Given the description of an element on the screen output the (x, y) to click on. 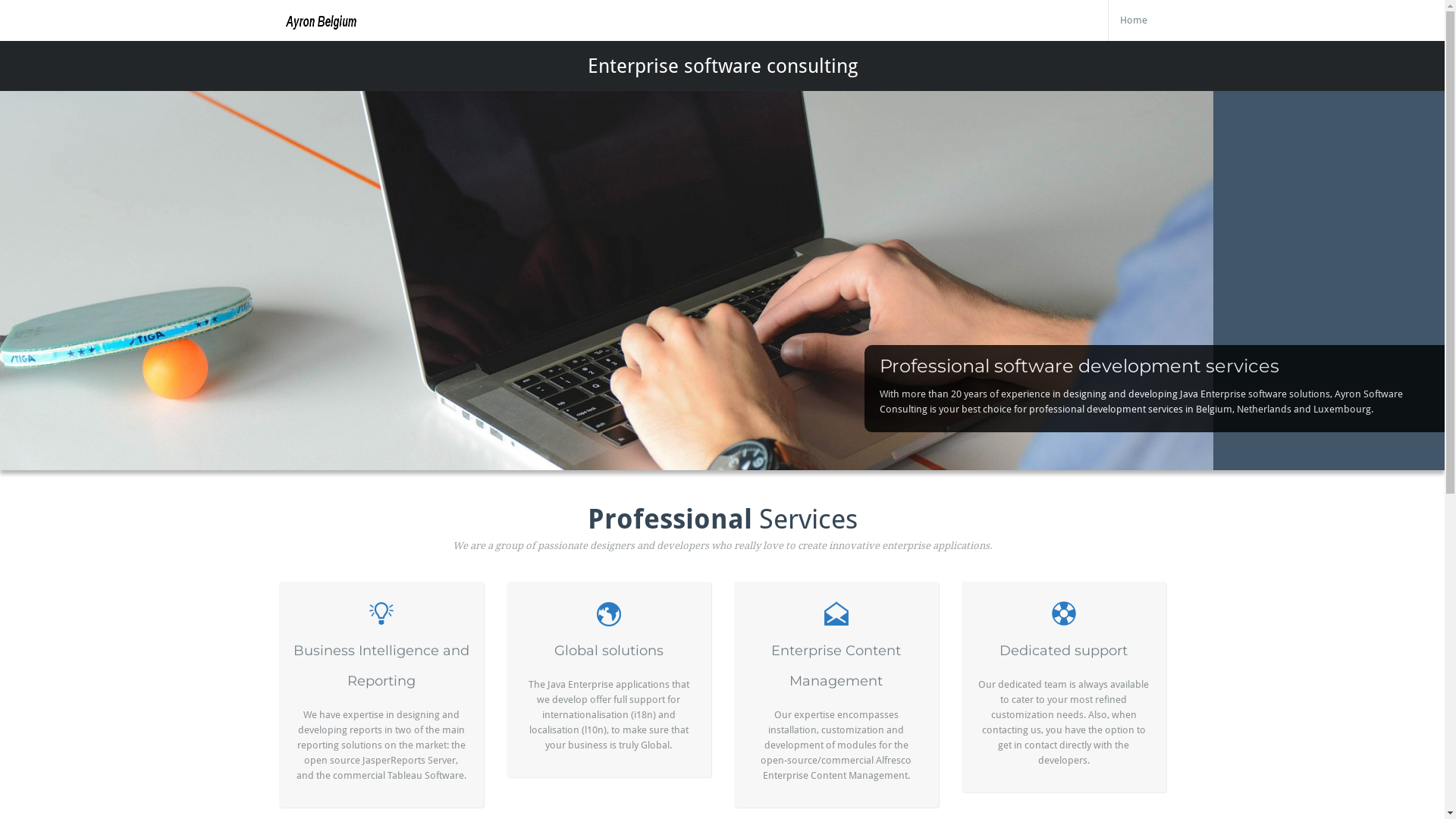
Home Element type: text (1133, 20)
